Given the description of an element on the screen output the (x, y) to click on. 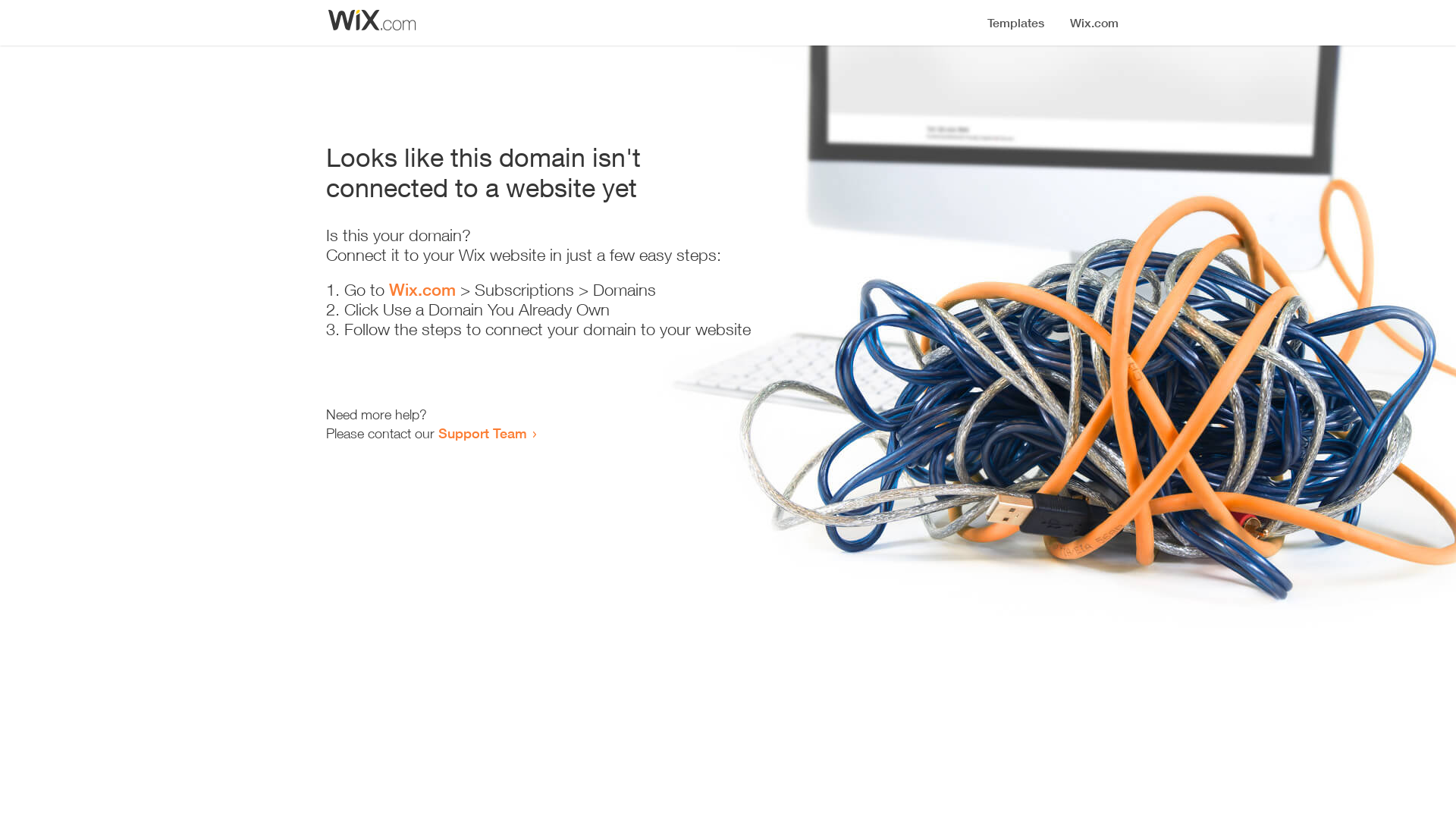
Support Team Element type: text (482, 432)
Wix.com Element type: text (422, 289)
